Given the description of an element on the screen output the (x, y) to click on. 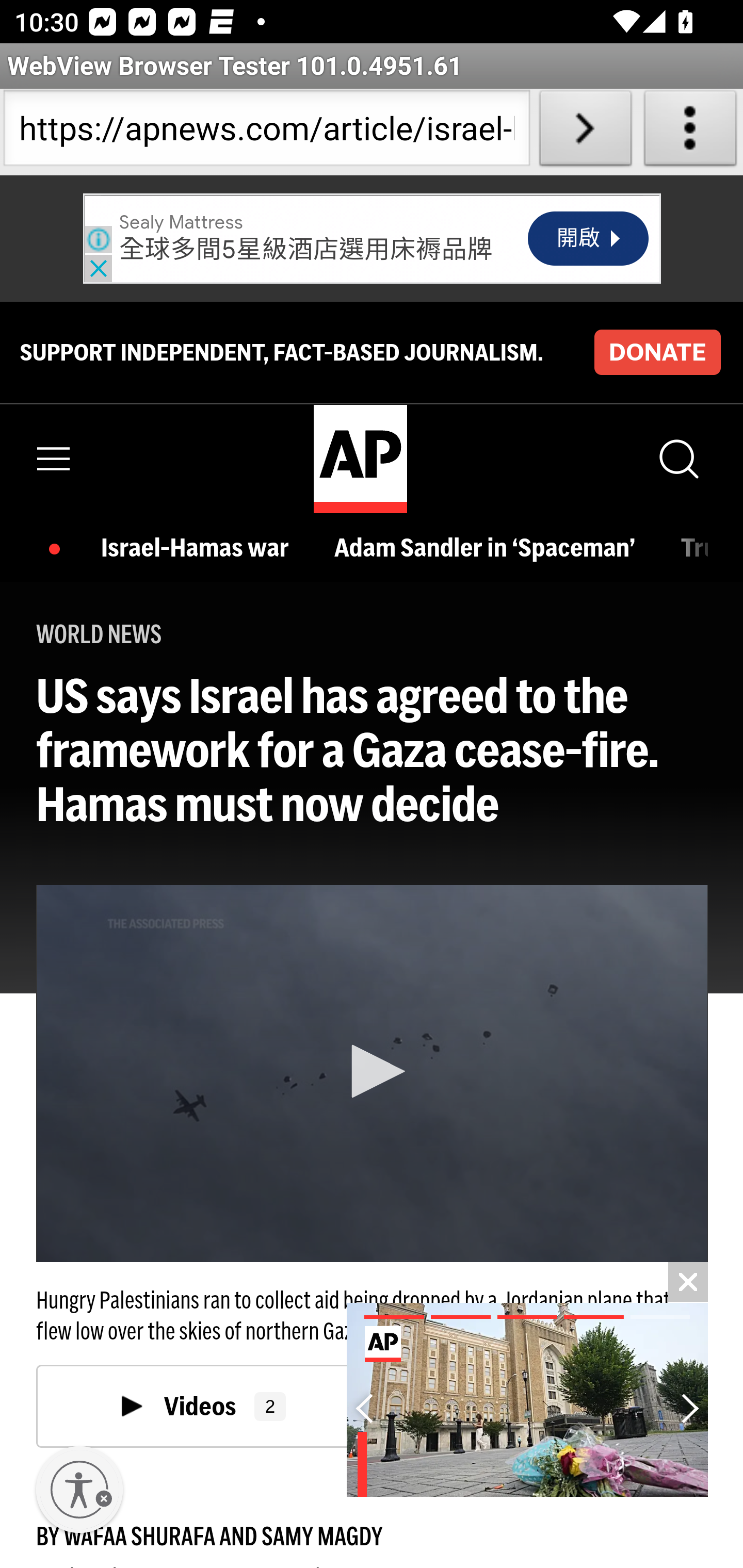
Load URL (585, 132)
About WebView (690, 132)
Sealy Mattress (180, 223)
開啟 (588, 238)
全球多間5星級酒店選用床褥品牌 (306, 249)
DONATE (657, 351)
home page AP Logo (359, 458)
Menu (54, 458)
Show Search (677, 458)
Israel-Hamas war (200, 548)
Adam Sandler in ‘Spaceman’ (489, 548)
WORLD NEWS (99, 634)
Play (372, 1071)
Enable accessibility (79, 1490)
